Given the description of an element on the screen output the (x, y) to click on. 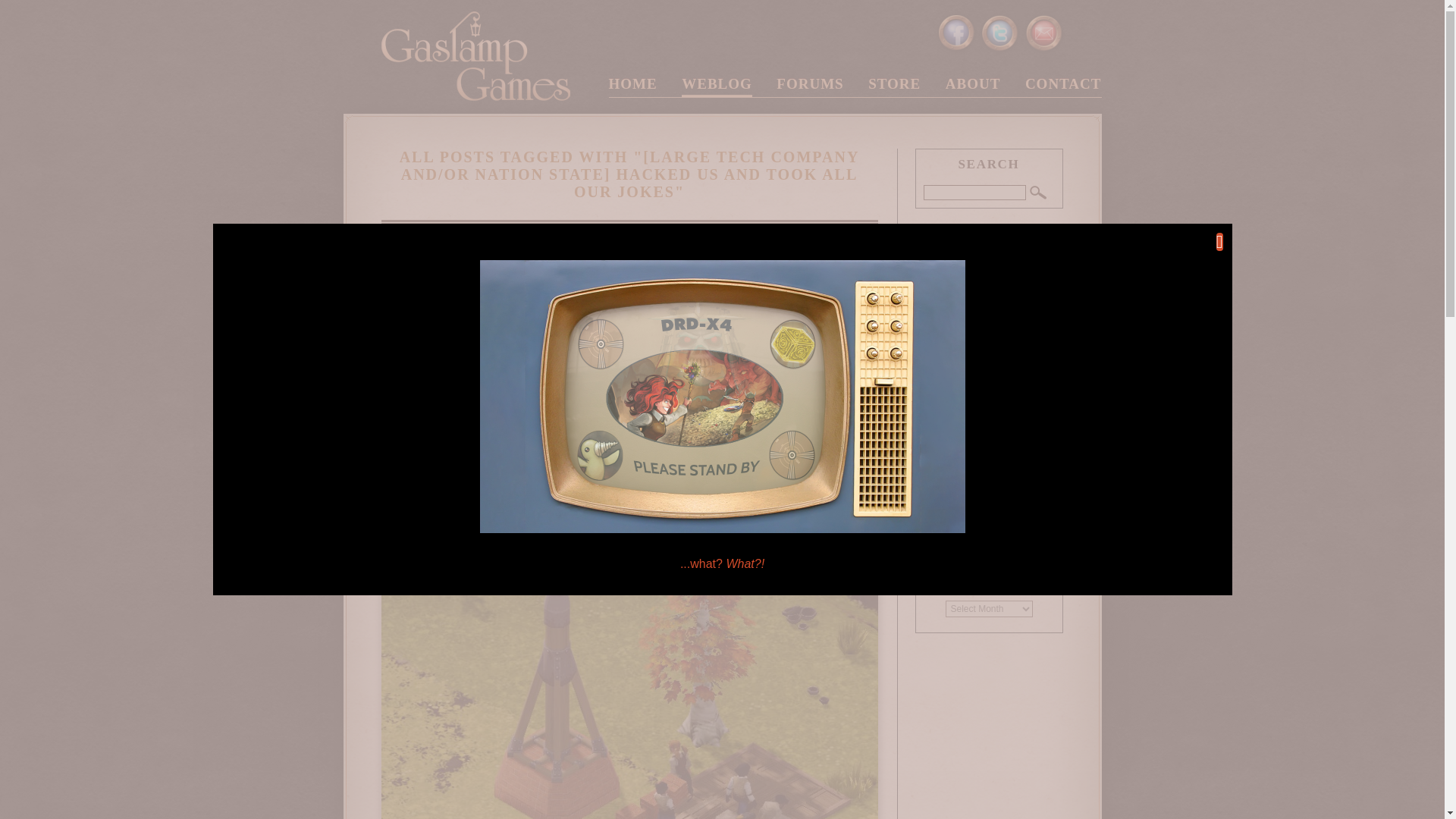
AIRSHIP MASTS, CONTAINERS, FRUIT BASKETS (628, 240)
April 1, 2015 (590, 277)
HOME (632, 86)
Website (950, 546)
Uncategorized (963, 530)
Modding (951, 482)
CONTACT (1063, 86)
FORUMS (809, 86)
STORE (893, 86)
Follow us on Twitter (1000, 33)
Clockwork Empires (972, 387)
Like us on Facebook (955, 33)
ABOUT (972, 86)
Programming (961, 514)
Other Games (961, 498)
